Given the description of an element on the screen output the (x, y) to click on. 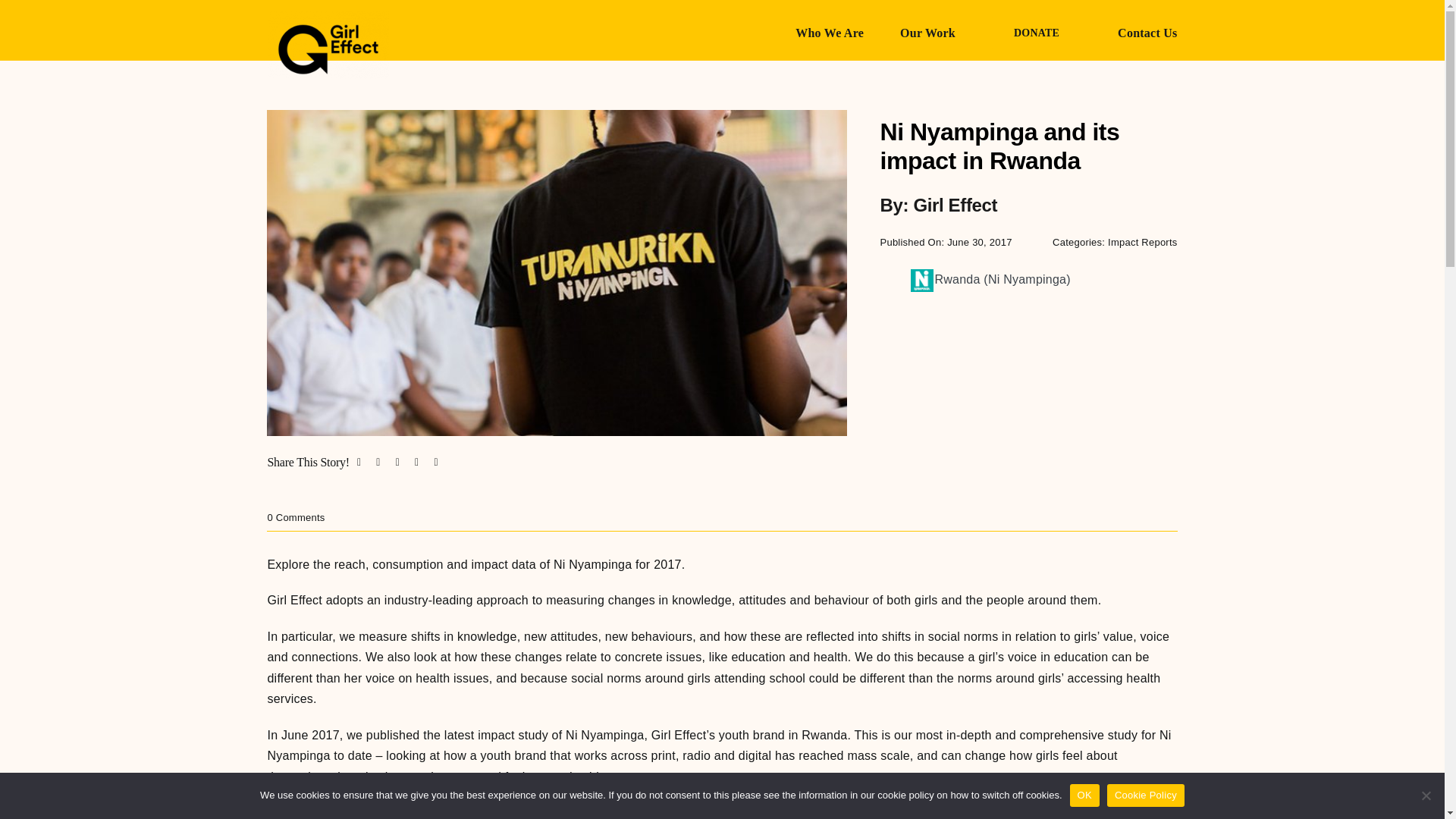
Who We Are (828, 31)
Contact Us (1147, 31)
DONATE (1036, 31)
